Given the description of an element on the screen output the (x, y) to click on. 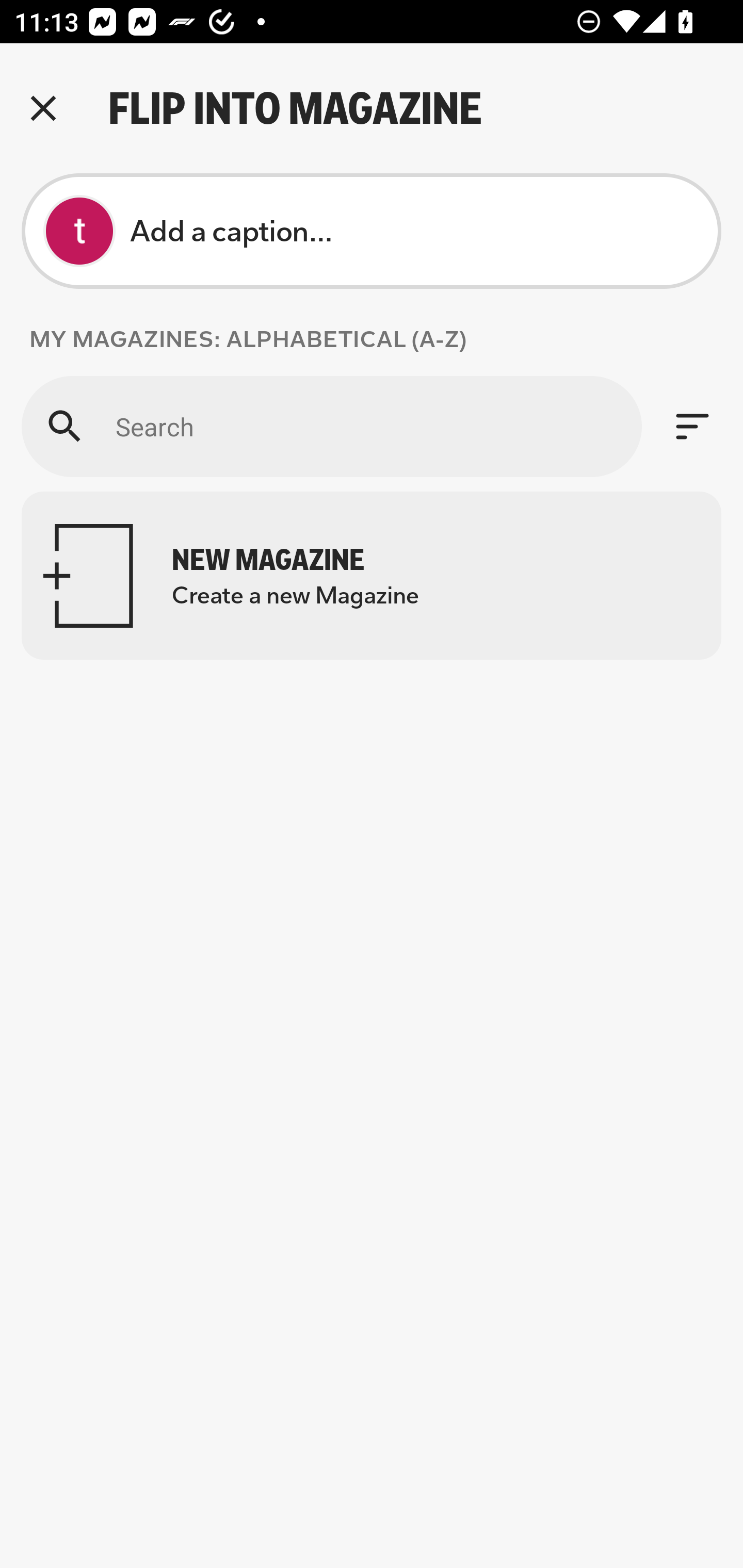
test appium Add a caption… (371, 231)
Search (331, 426)
NEW MAGAZINE Create a new Magazine (371, 575)
